Given the description of an element on the screen output the (x, y) to click on. 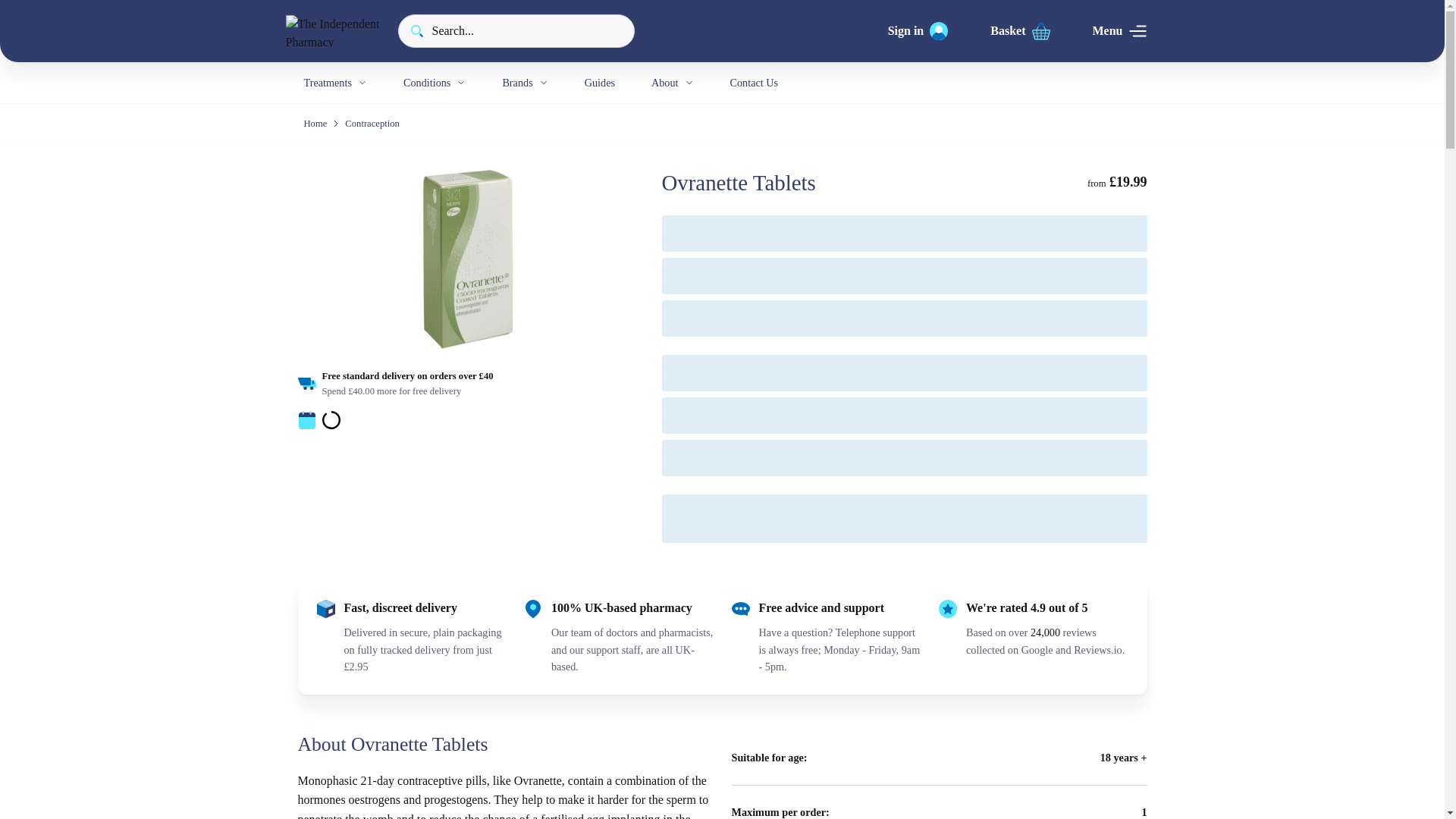
Basket (1019, 30)
Open the main menu (1119, 30)
Menu (1119, 30)
The Independent Pharmacy homepage (331, 30)
Open your basket (1019, 30)
Your Independent Pharmacy account (918, 30)
Treatments (334, 83)
Sign in (918, 30)
